Given the description of an element on the screen output the (x, y) to click on. 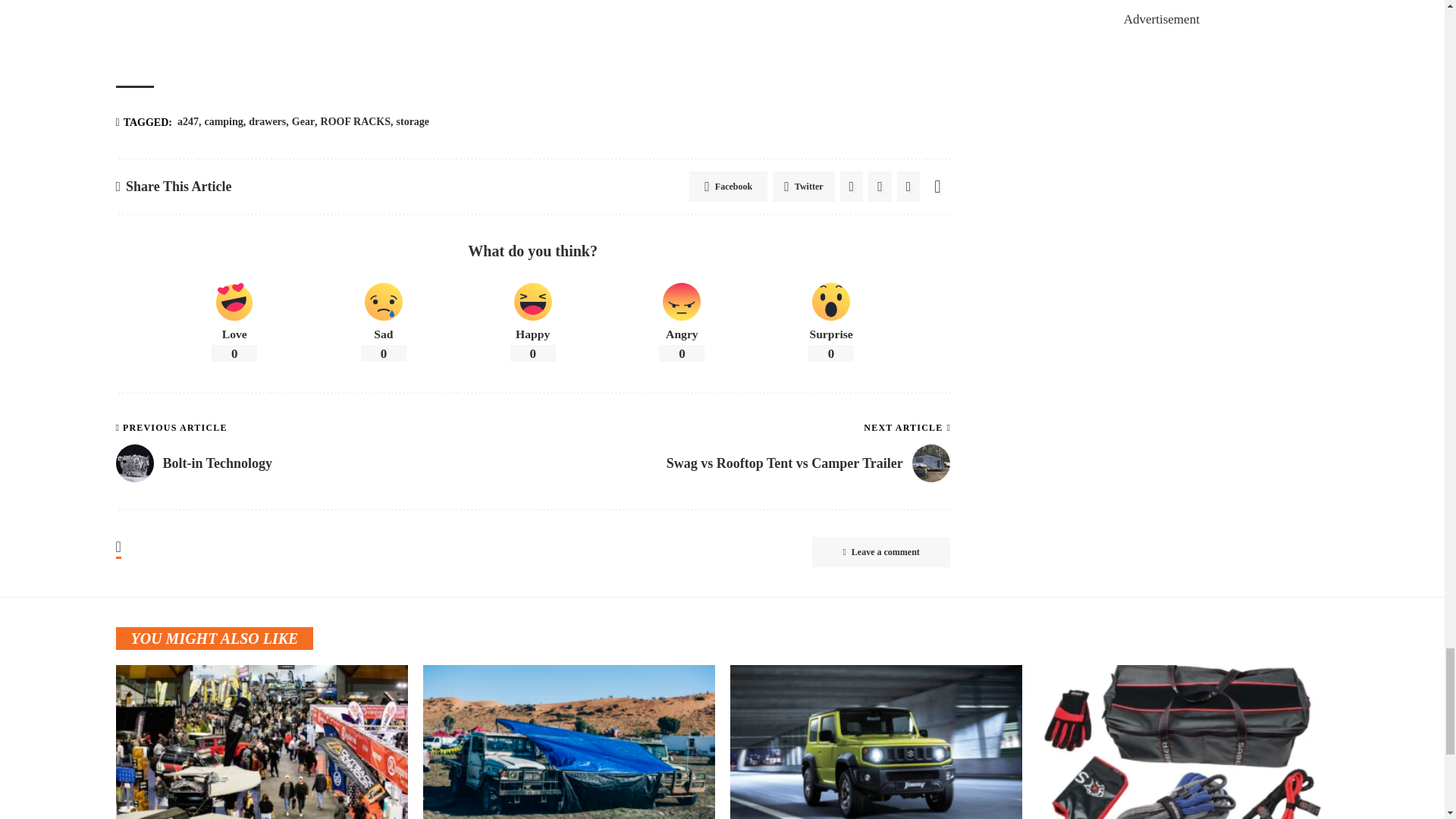
Top 5 things you need in your recovery kit (1182, 742)
